Given the description of an element on the screen output the (x, y) to click on. 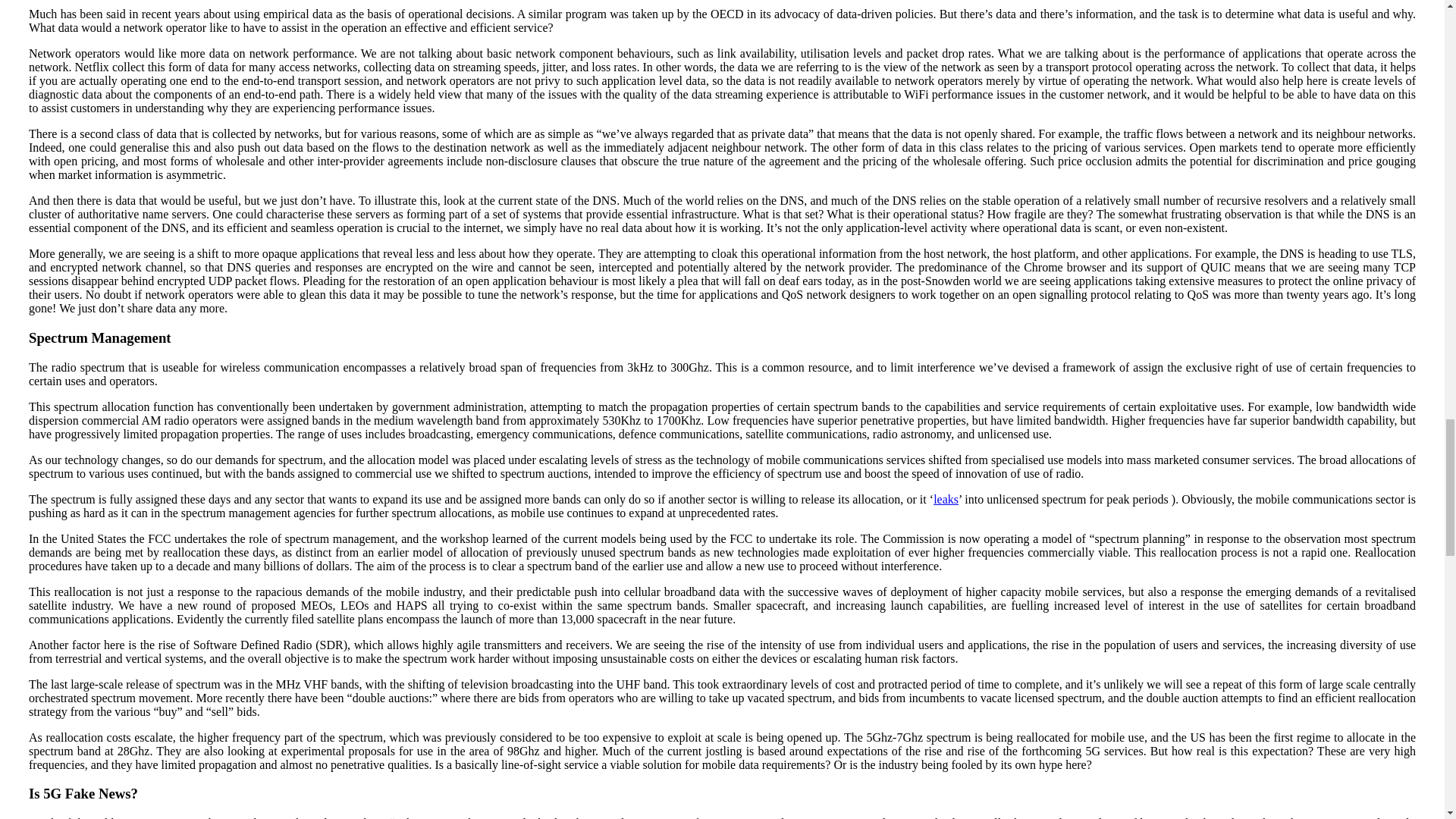
leaks (945, 499)
